Given the description of an element on the screen output the (x, y) to click on. 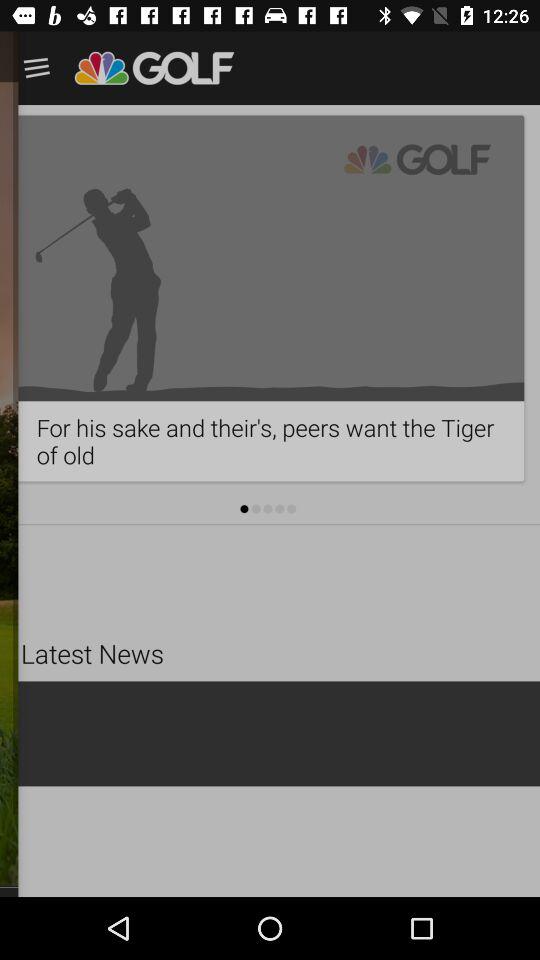
select the latest news (136, 679)
